Given the description of an element on the screen output the (x, y) to click on. 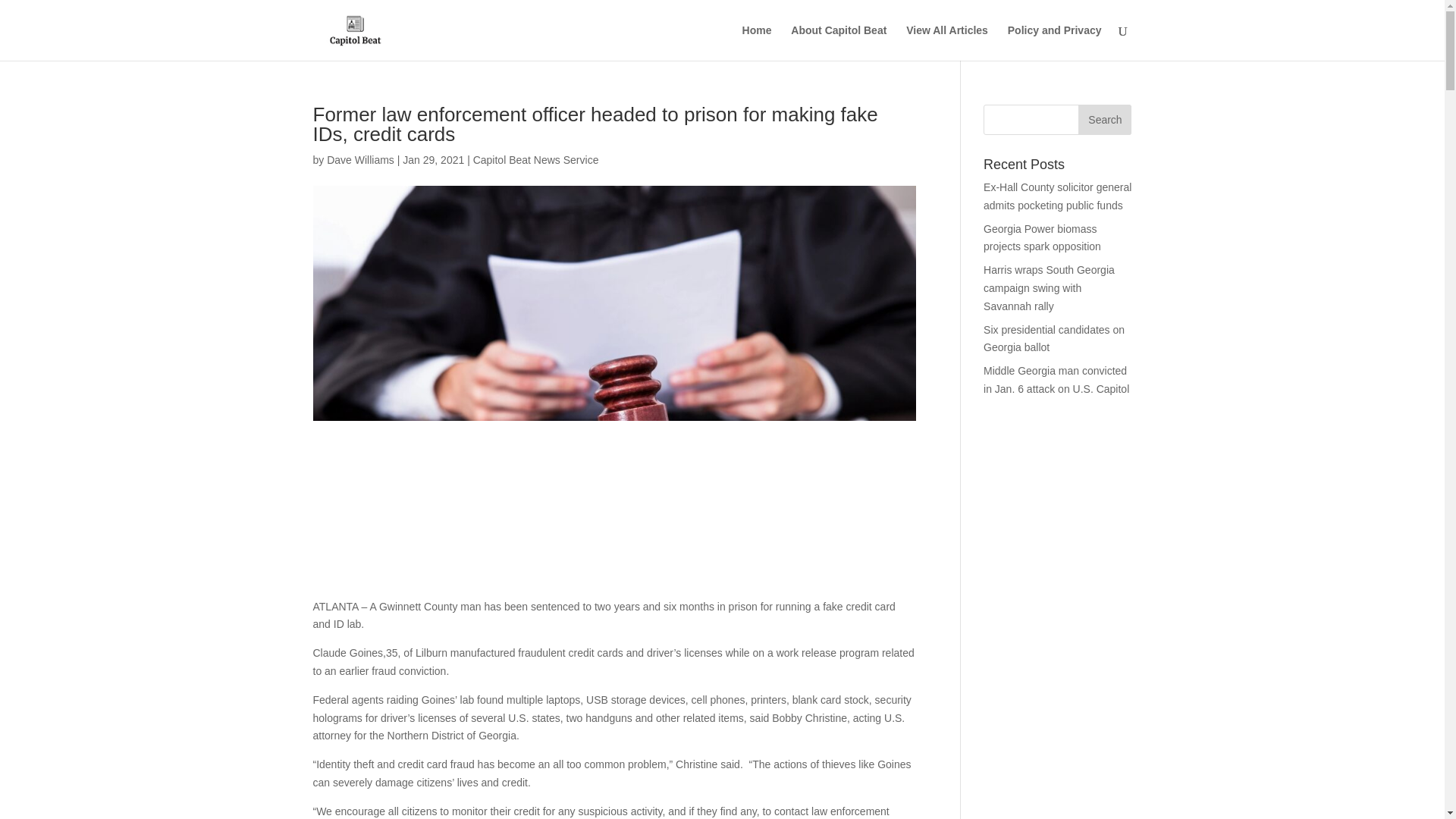
Search (1104, 119)
About Capitol Beat (838, 42)
View All Articles (946, 42)
Dave Williams (360, 159)
Search (1104, 119)
Capitol Beat News Service (535, 159)
Georgia Power biomass projects spark opposition (1042, 237)
